Given the description of an element on the screen output the (x, y) to click on. 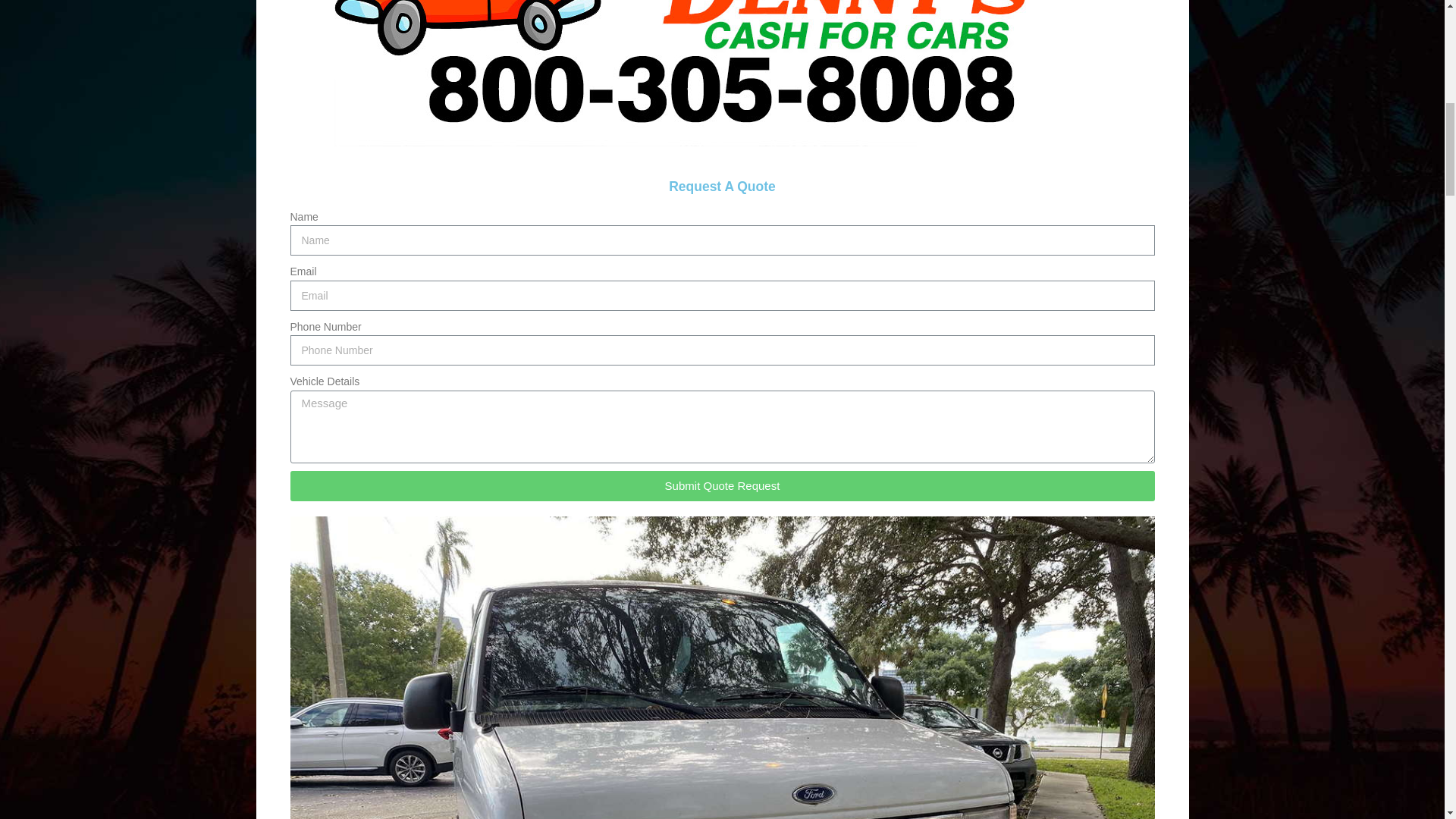
Submit Quote Request (721, 485)
